Given the description of an element on the screen output the (x, y) to click on. 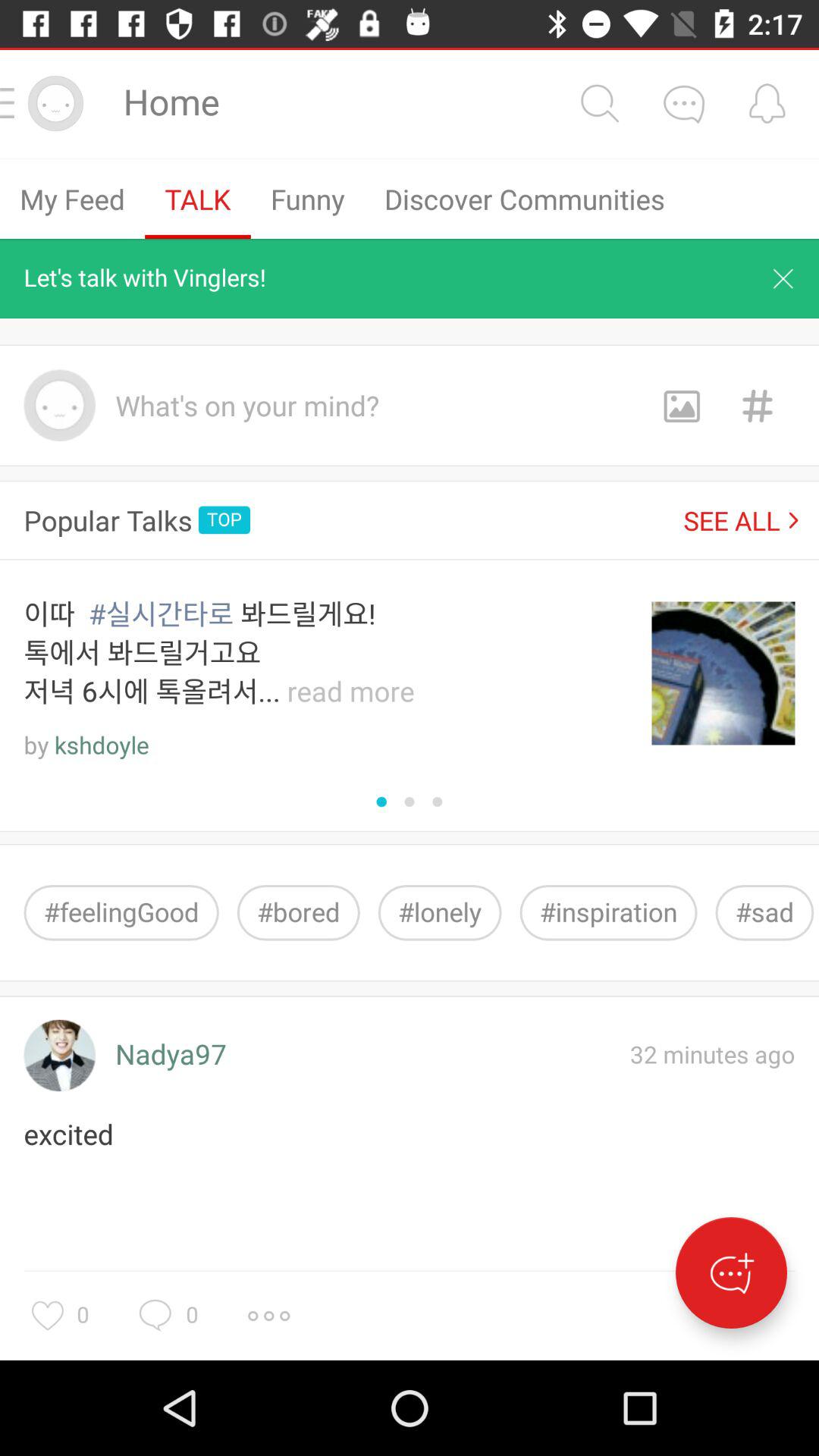
choose the icon above the excited item (59, 1055)
